Given the description of an element on the screen output the (x, y) to click on. 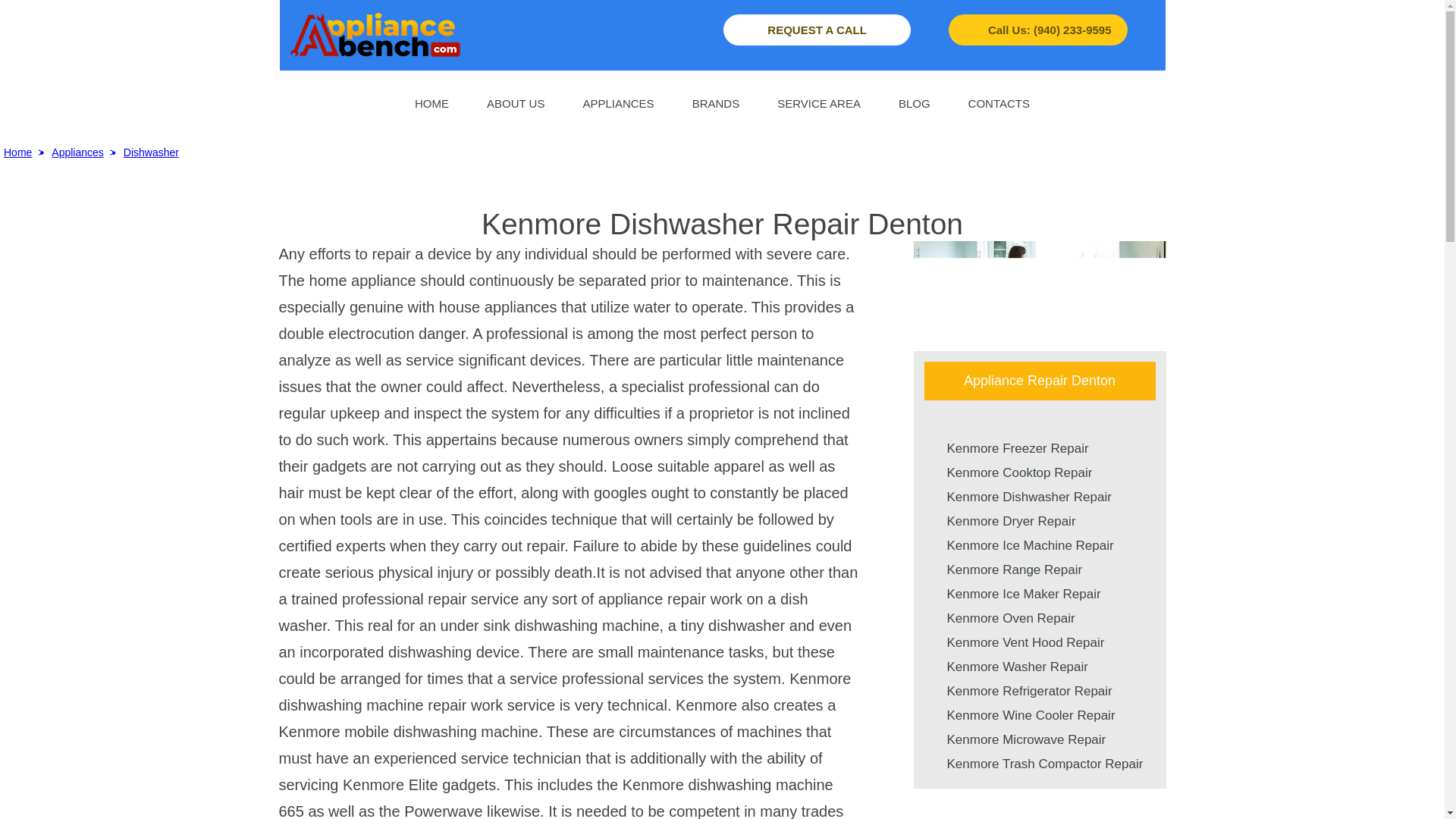
APPLIANCES (617, 102)
ABOUT US (515, 102)
BRANDS (715, 102)
REQUEST A CALL (817, 29)
HOME (431, 102)
